Given the description of an element on the screen output the (x, y) to click on. 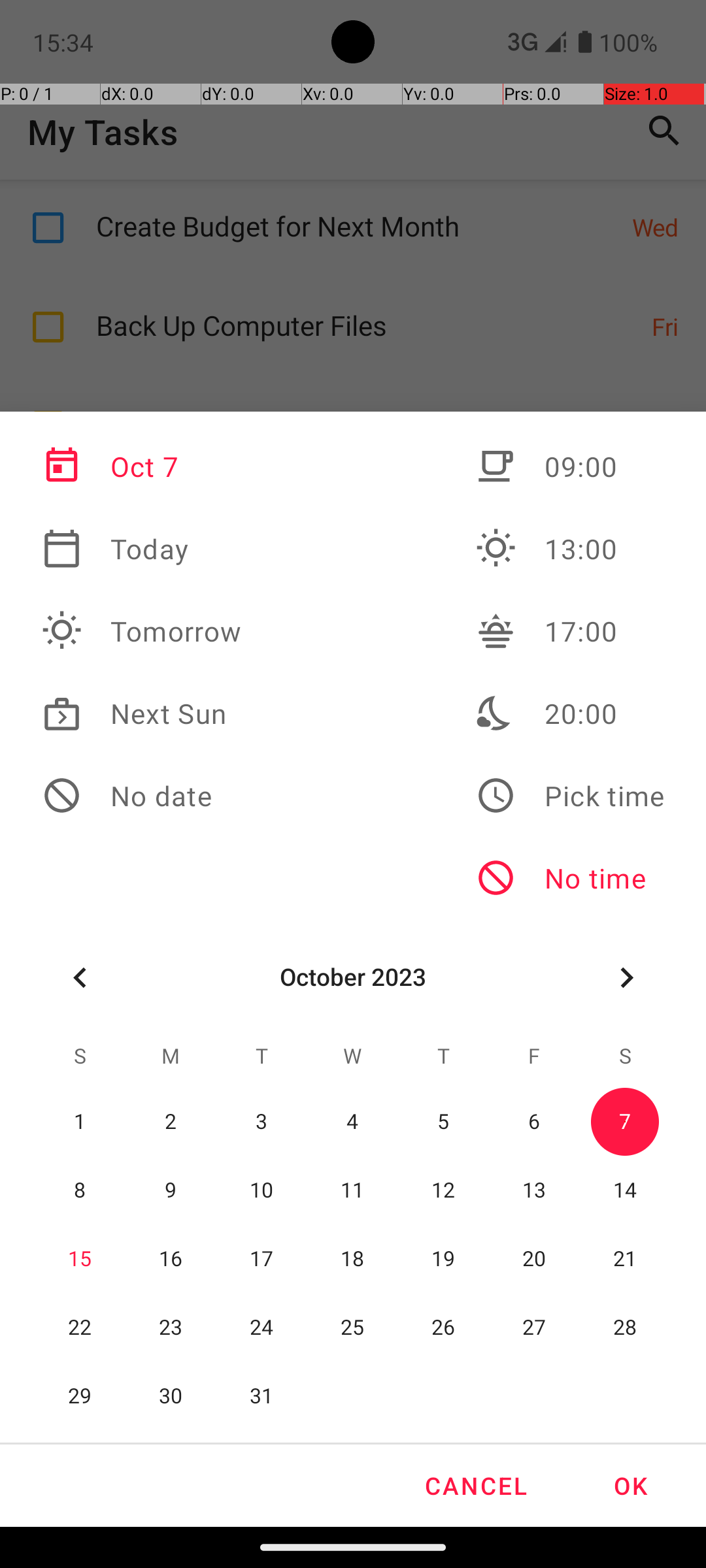
Oct 7 Element type: android.widget.CompoundButton (141, 466)
